Given the description of an element on the screen output the (x, y) to click on. 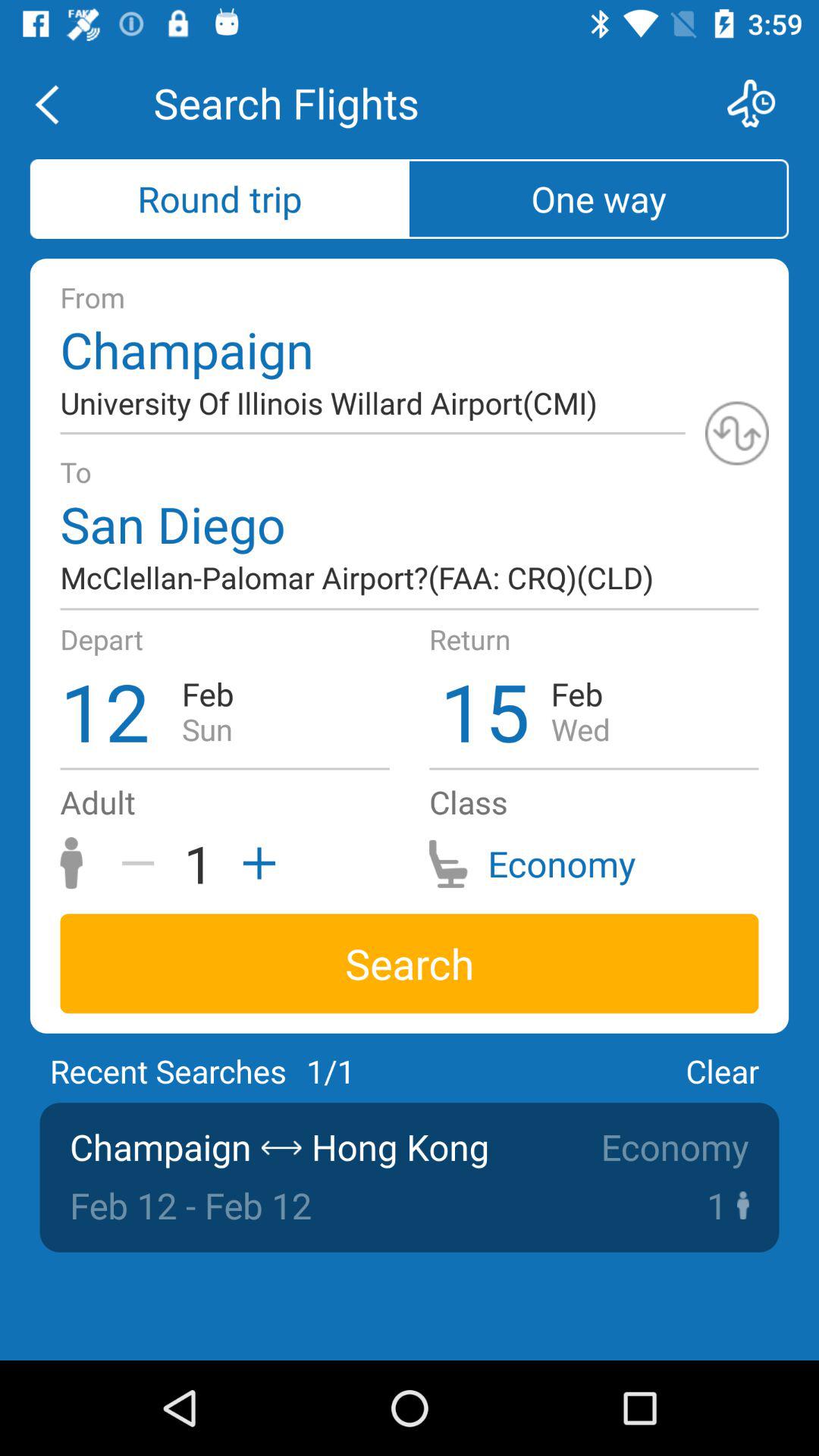
scroll to round trip icon (219, 198)
